Given the description of an element on the screen output the (x, y) to click on. 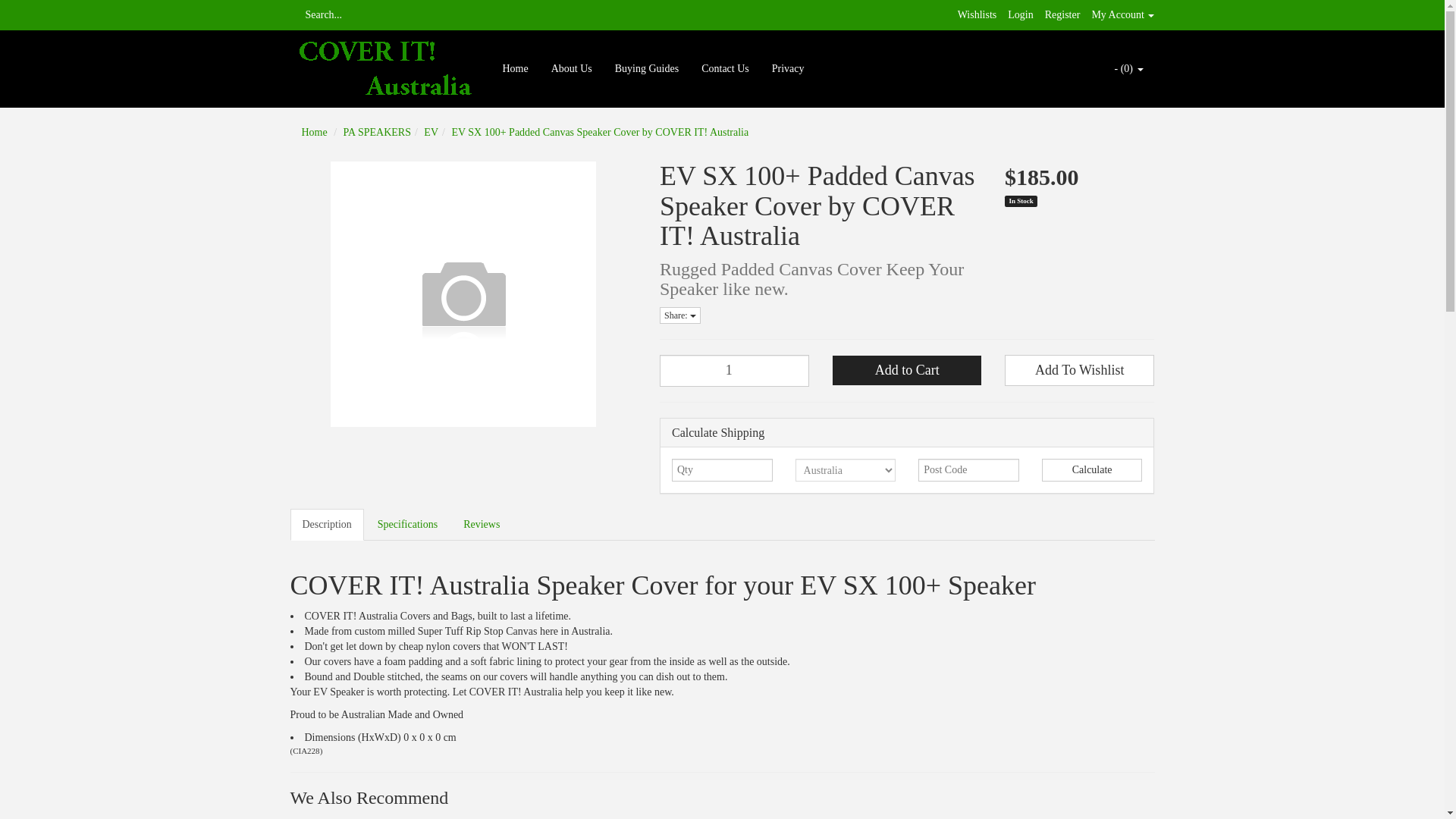
Login (1019, 14)
PA SPEAKERS (376, 132)
Add to Cart (906, 370)
Register (1062, 14)
Home (314, 132)
Login (1019, 14)
1 (734, 370)
EV (430, 132)
Calculate (1092, 469)
Buying Guides (647, 69)
My Account (1122, 14)
Search (294, 14)
Share: (679, 315)
Wishlists (977, 14)
Register (1062, 14)
